Given the description of an element on the screen output the (x, y) to click on. 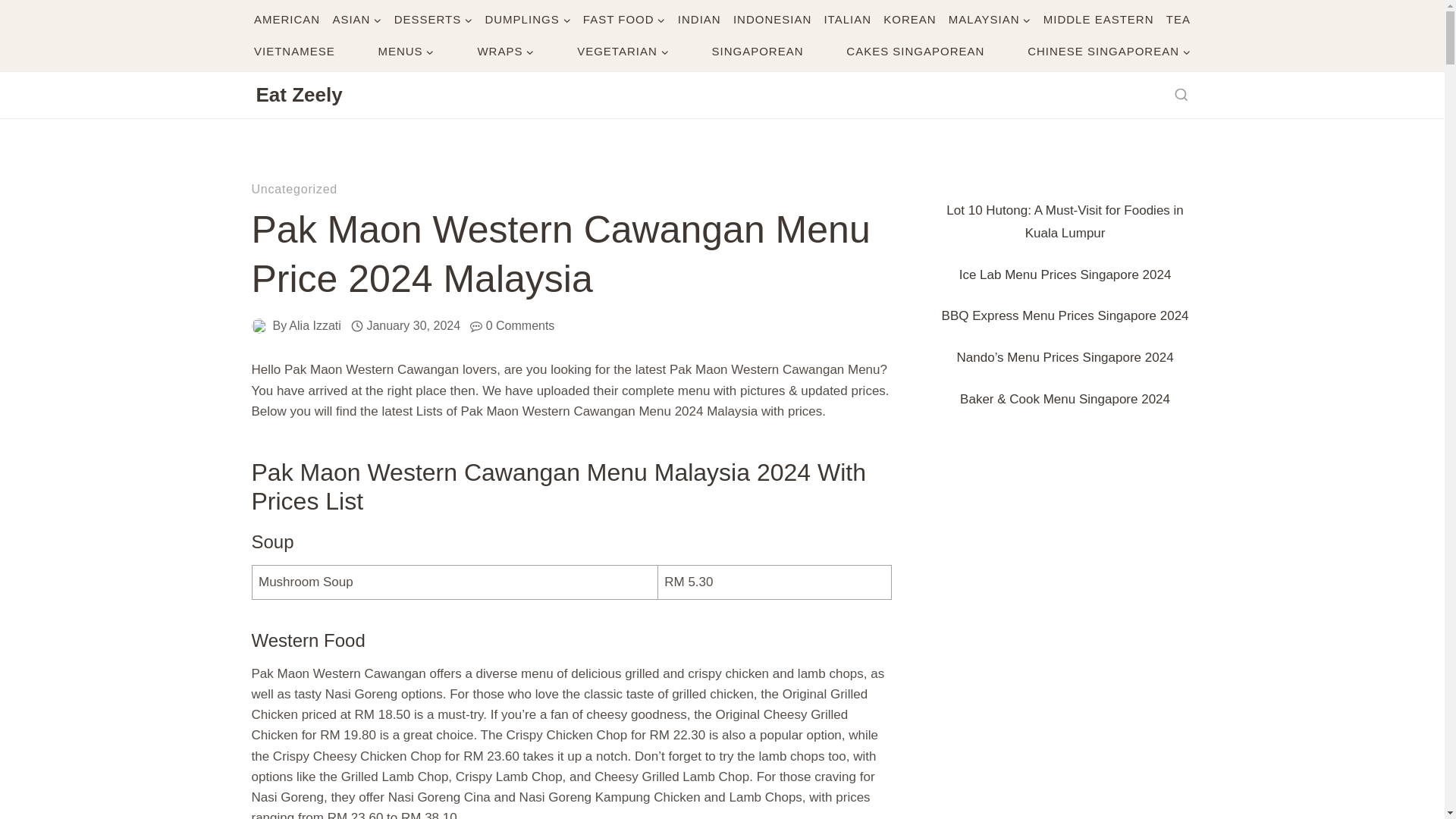
0 Comments (520, 325)
FAST FOOD (623, 20)
INDONESIAN (771, 20)
ITALIAN (847, 20)
KOREAN (909, 20)
DESSERTS (433, 20)
MENUS (405, 51)
DUMPLINGS (527, 20)
INDIAN (698, 20)
VIETNAMESE (294, 51)
